Given the description of an element on the screen output the (x, y) to click on. 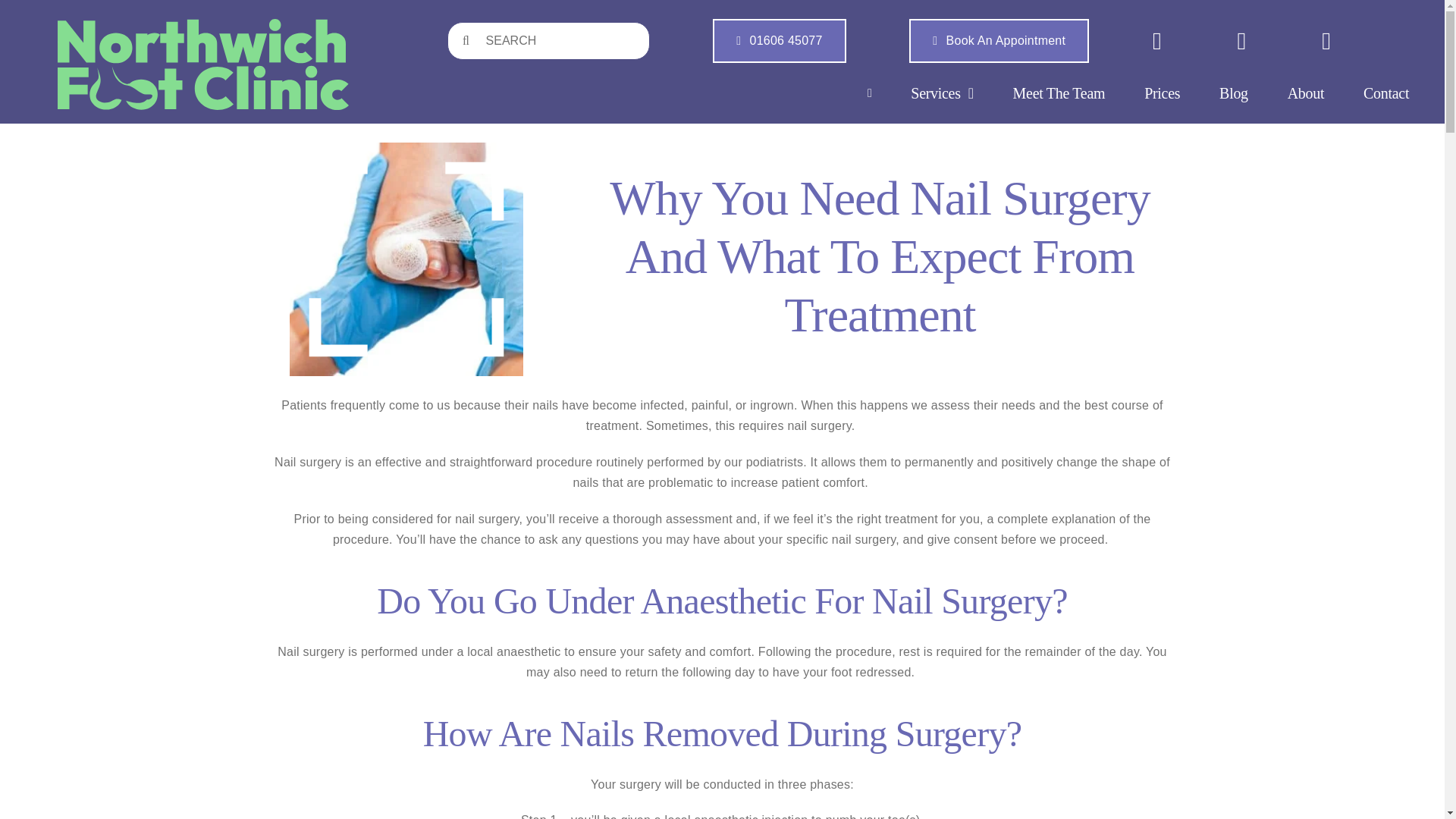
Appointment (998, 40)
Services (941, 93)
01606 45077 (779, 40)
Meet The Team (1059, 93)
Services (941, 93)
Telephone (779, 40)
Book An Appointment (998, 40)
nail surgery (406, 147)
